Given the description of an element on the screen output the (x, y) to click on. 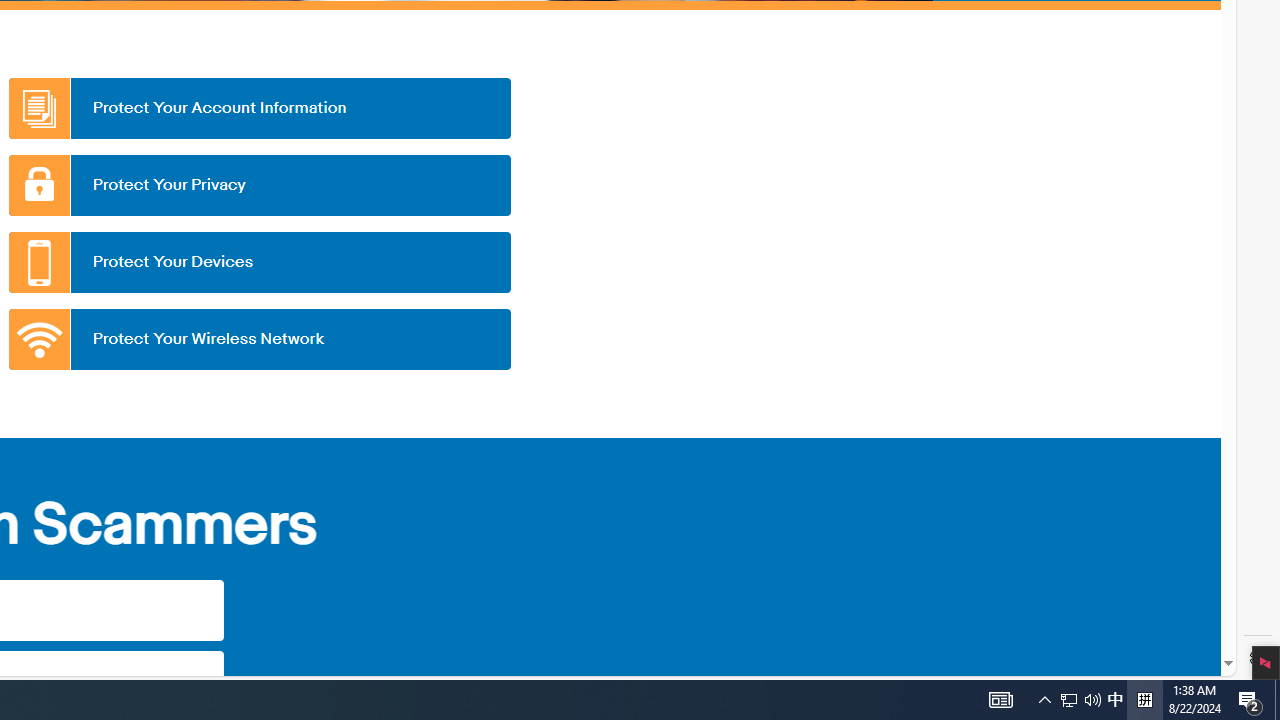
Protect Your Devices (259, 262)
Protect Your Privacy (259, 185)
Protect Your Account Information (259, 107)
Protect Your Wireless Network (259, 339)
